Given the description of an element on the screen output the (x, y) to click on. 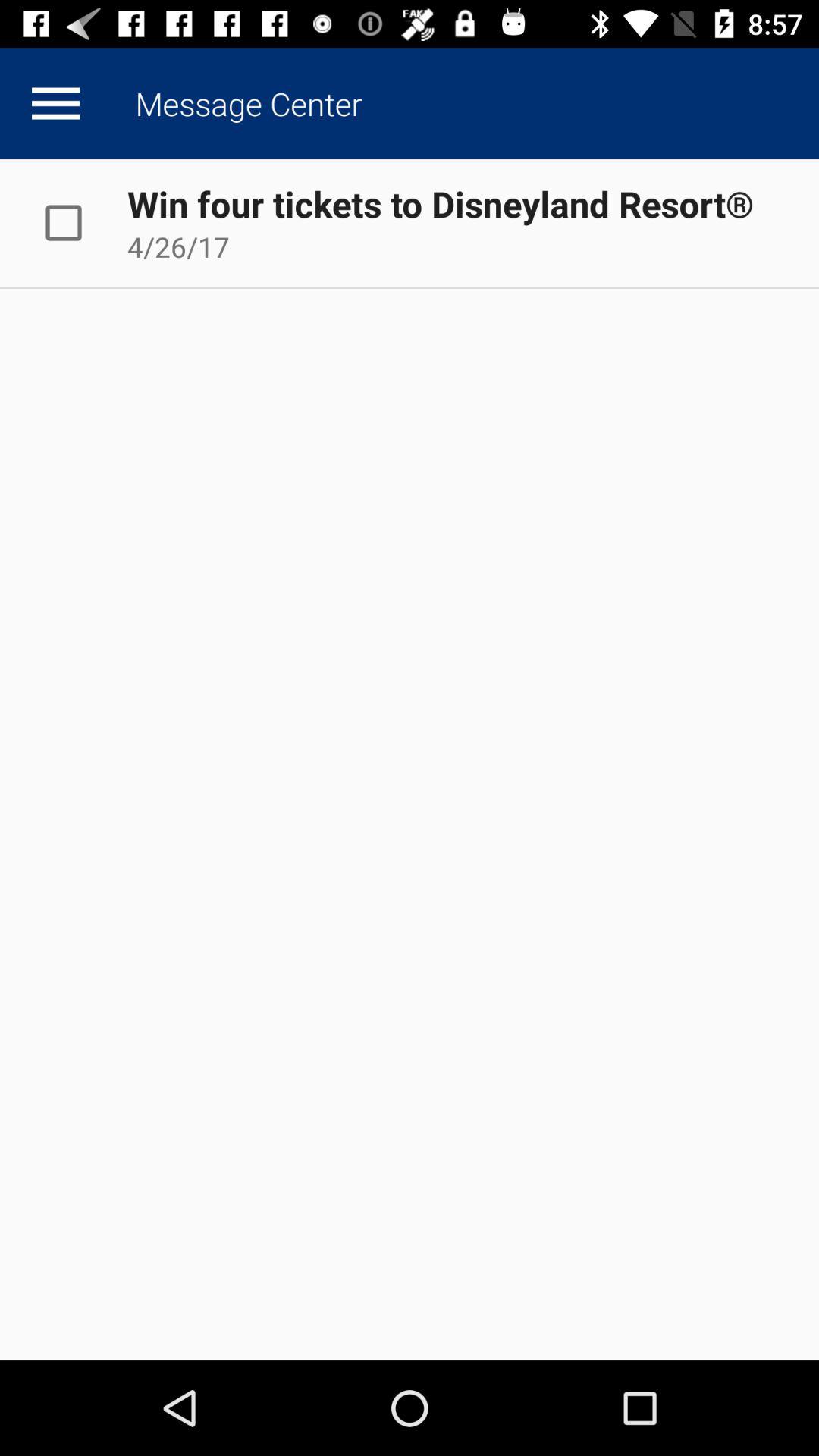
open app above 4/26/17 (440, 203)
